Given the description of an element on the screen output the (x, y) to click on. 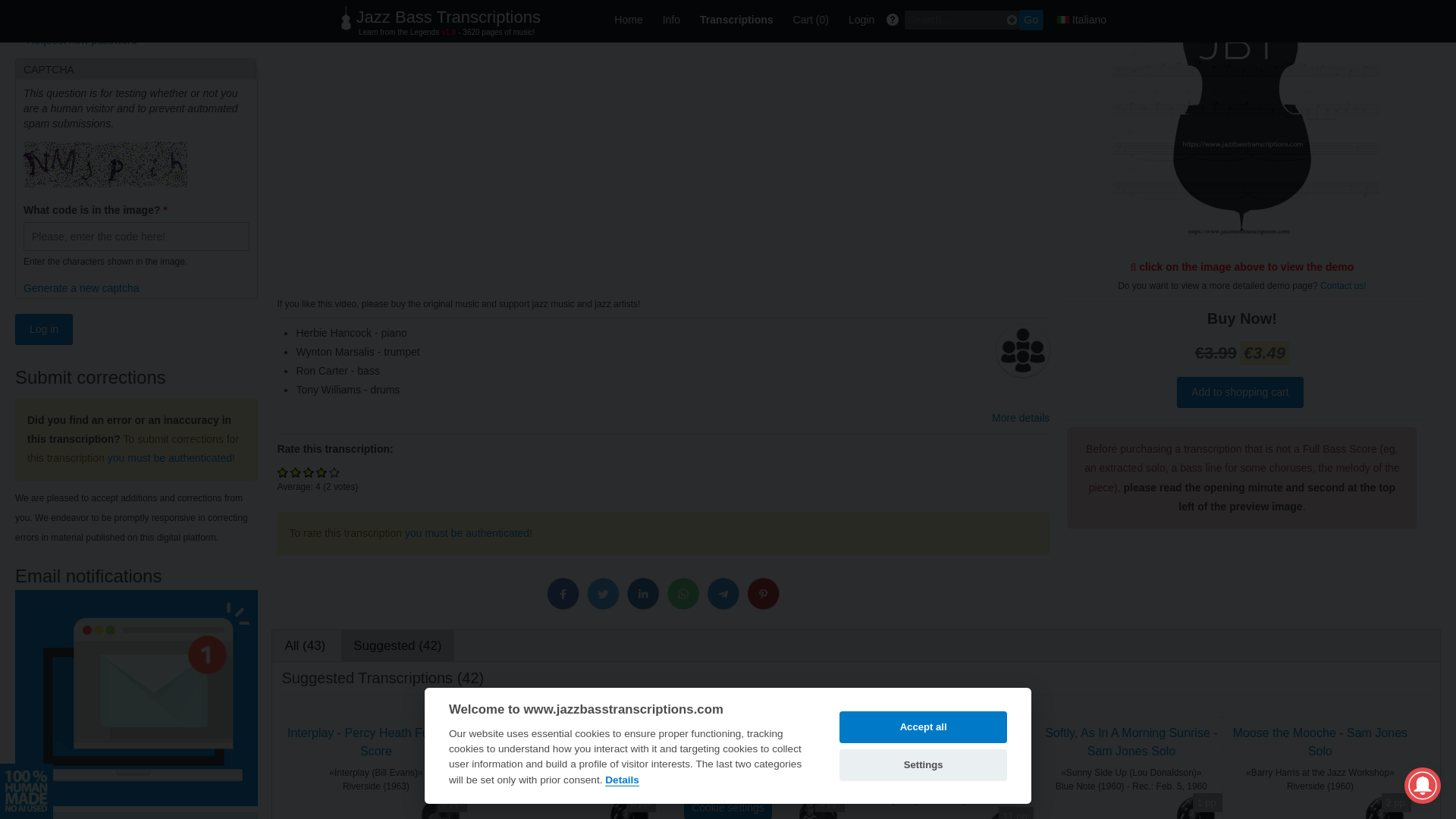
Well You Needn't - Ron Carter Full Bass Line - DEMO (1241, 246)
